Given the description of an element on the screen output the (x, y) to click on. 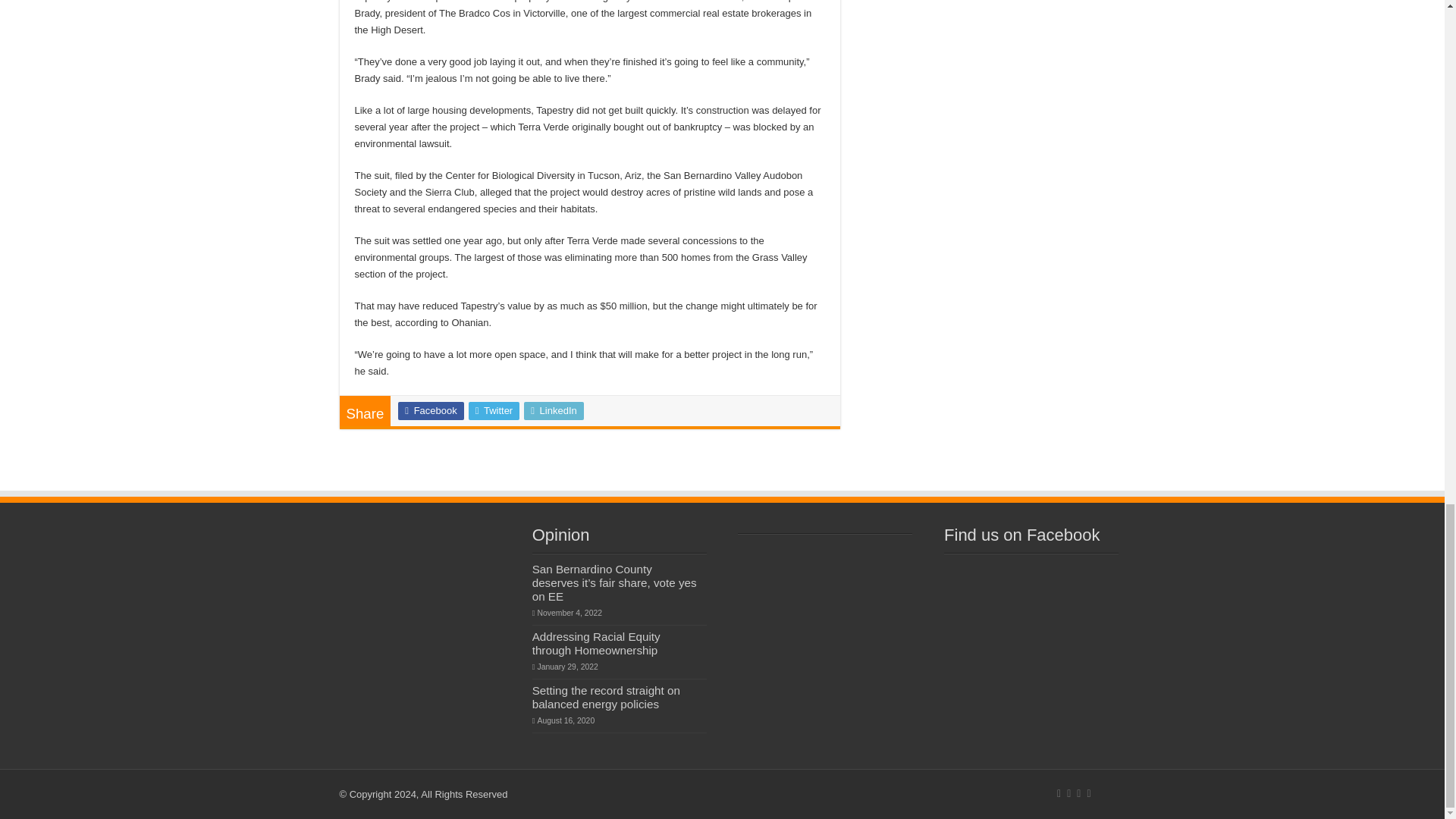
Facebook (430, 411)
LinkedIn (553, 411)
Twitter (493, 411)
